Given the description of an element on the screen output the (x, y) to click on. 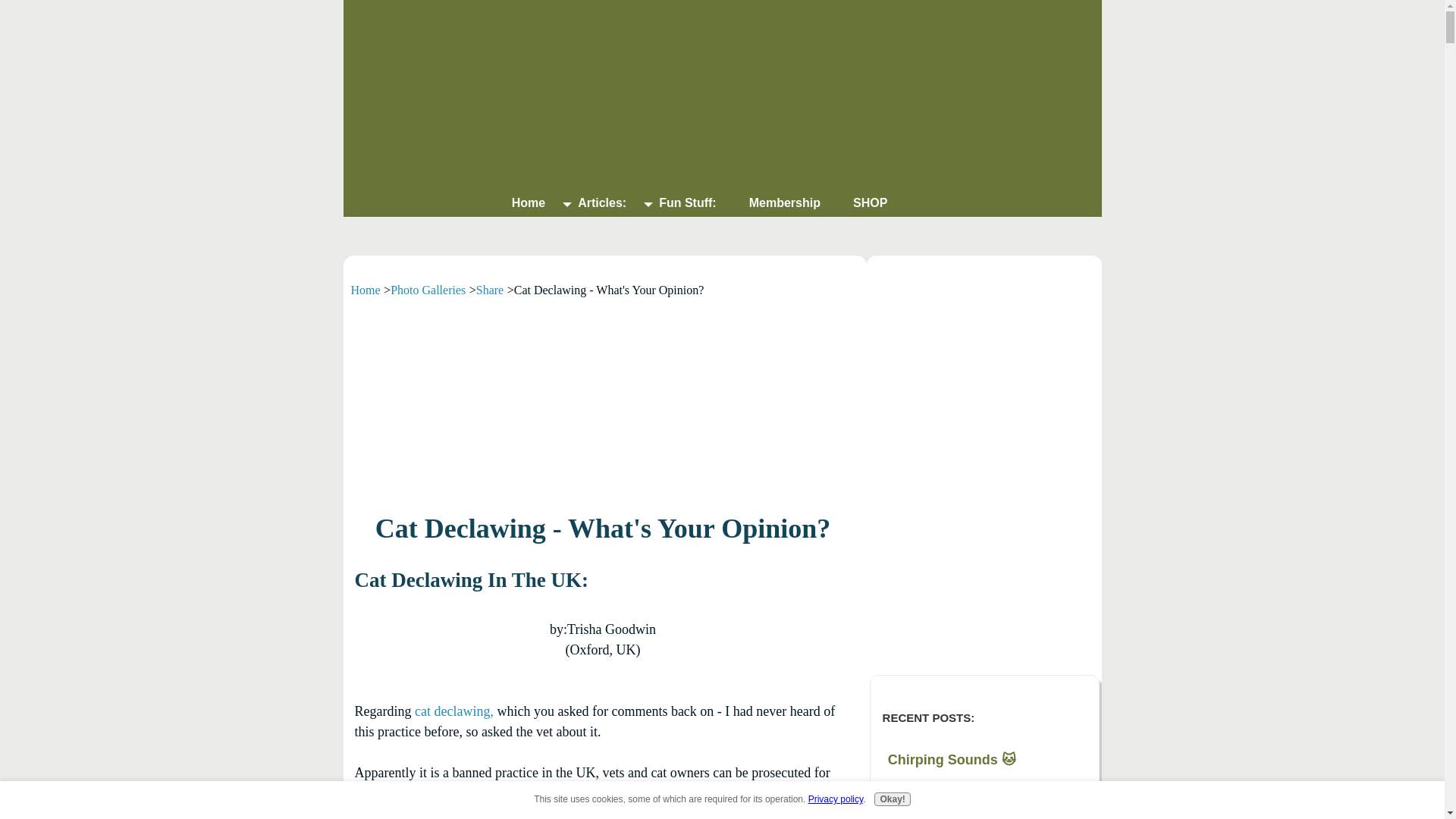
Membership (783, 203)
SHOP (868, 203)
Photo Galleries (427, 289)
Go to Welcome to Our Maine Coon Community! (602, 465)
2024-08-02T14:07:08-0400 (940, 789)
Home (365, 289)
Community Member's Area (983, 316)
Go to Welcome to Our Maine Coon Community! (983, 365)
Home (527, 203)
Join Us! (602, 397)
cat declawing, (453, 711)
Share (489, 289)
Best Scratching Posts (983, 515)
